Given the description of an element on the screen output the (x, y) to click on. 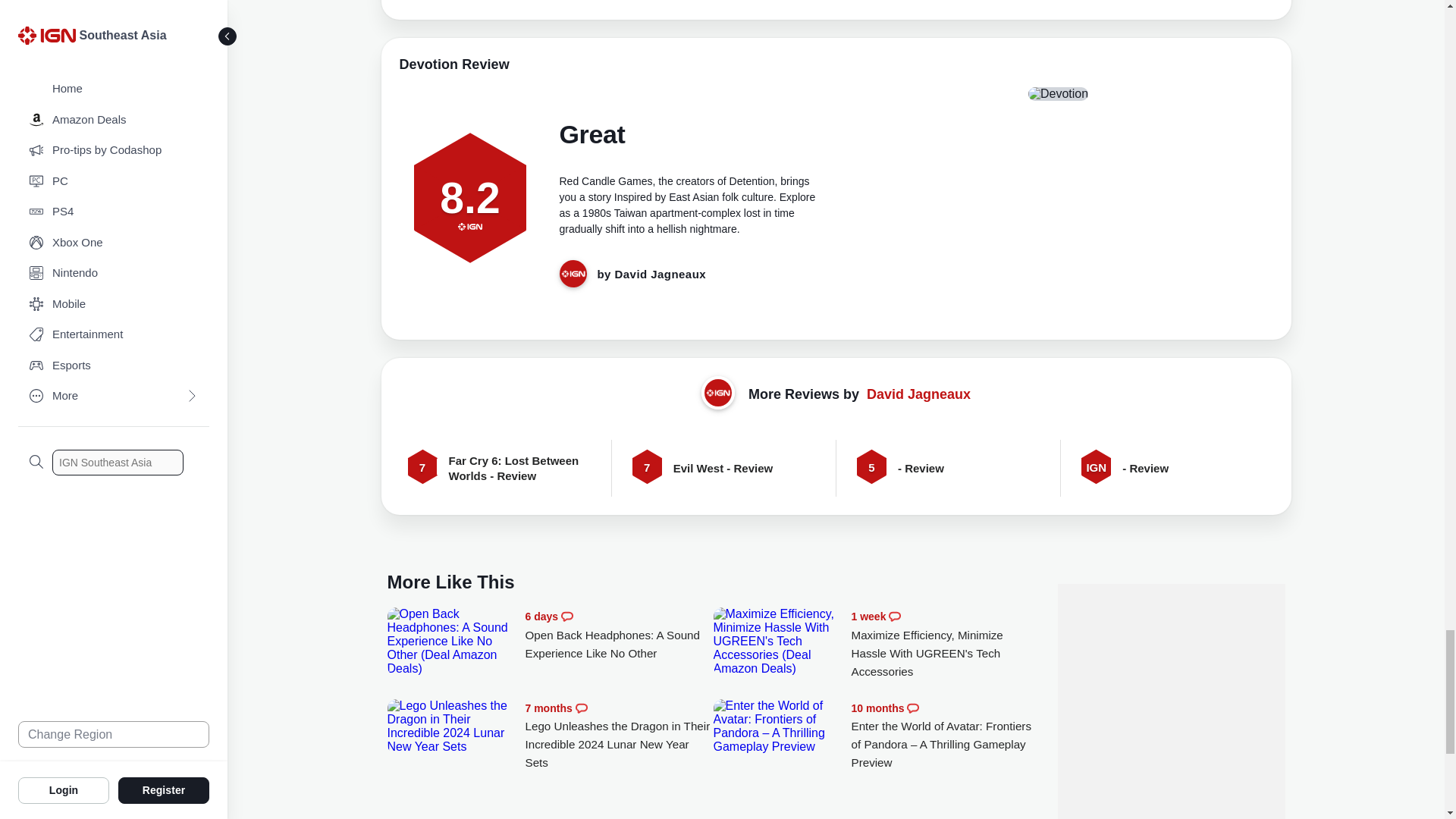
Open Back Headphones: A Sound Experience Like No Other (451, 641)
Open Back Headphones: A Sound Experience Like No Other (618, 634)
Comments (566, 616)
